Given the description of an element on the screen output the (x, y) to click on. 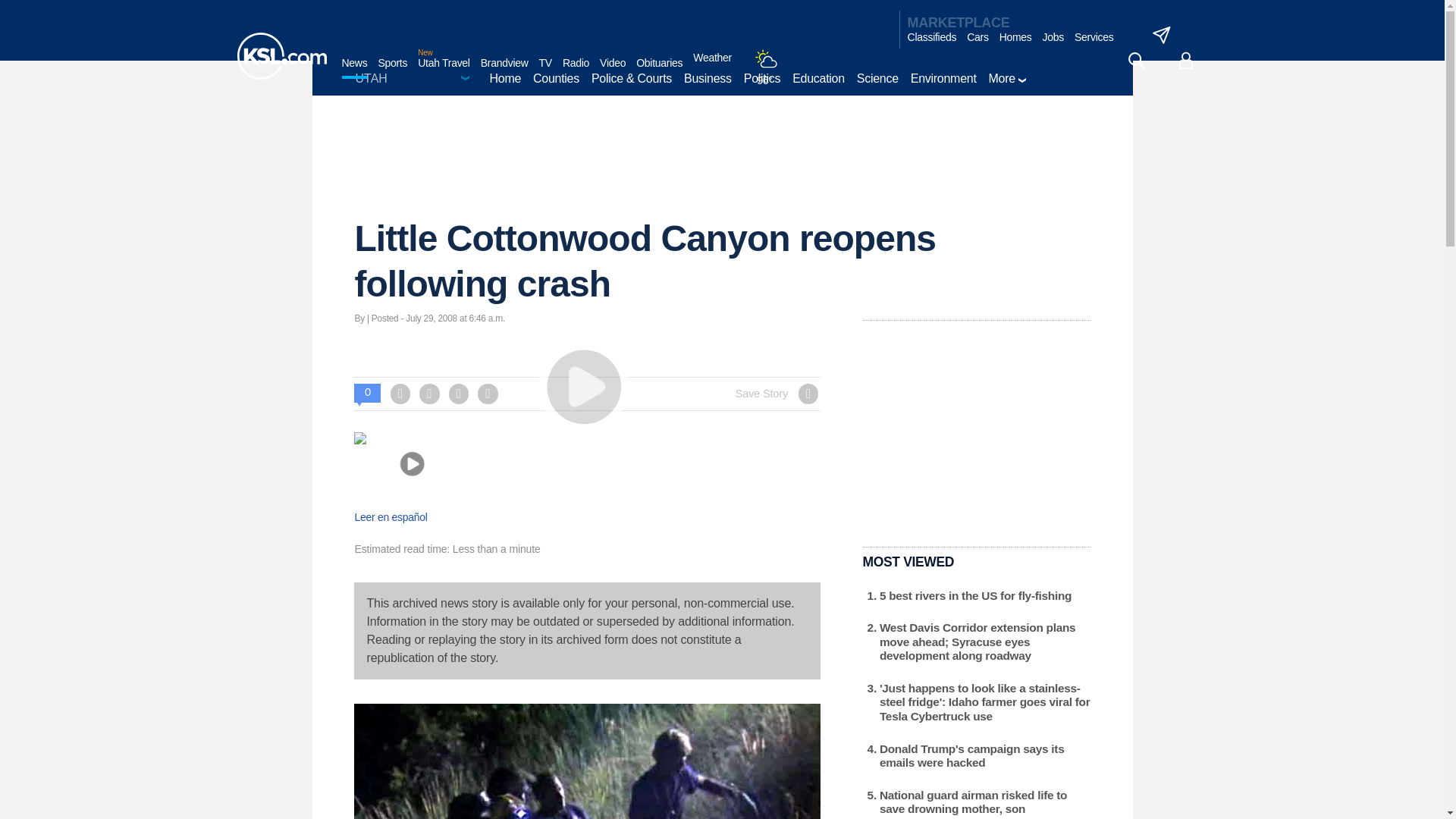
KSL homepage (280, 55)
search (1135, 60)
account - logged out (1185, 60)
